Given the description of an element on the screen output the (x, y) to click on. 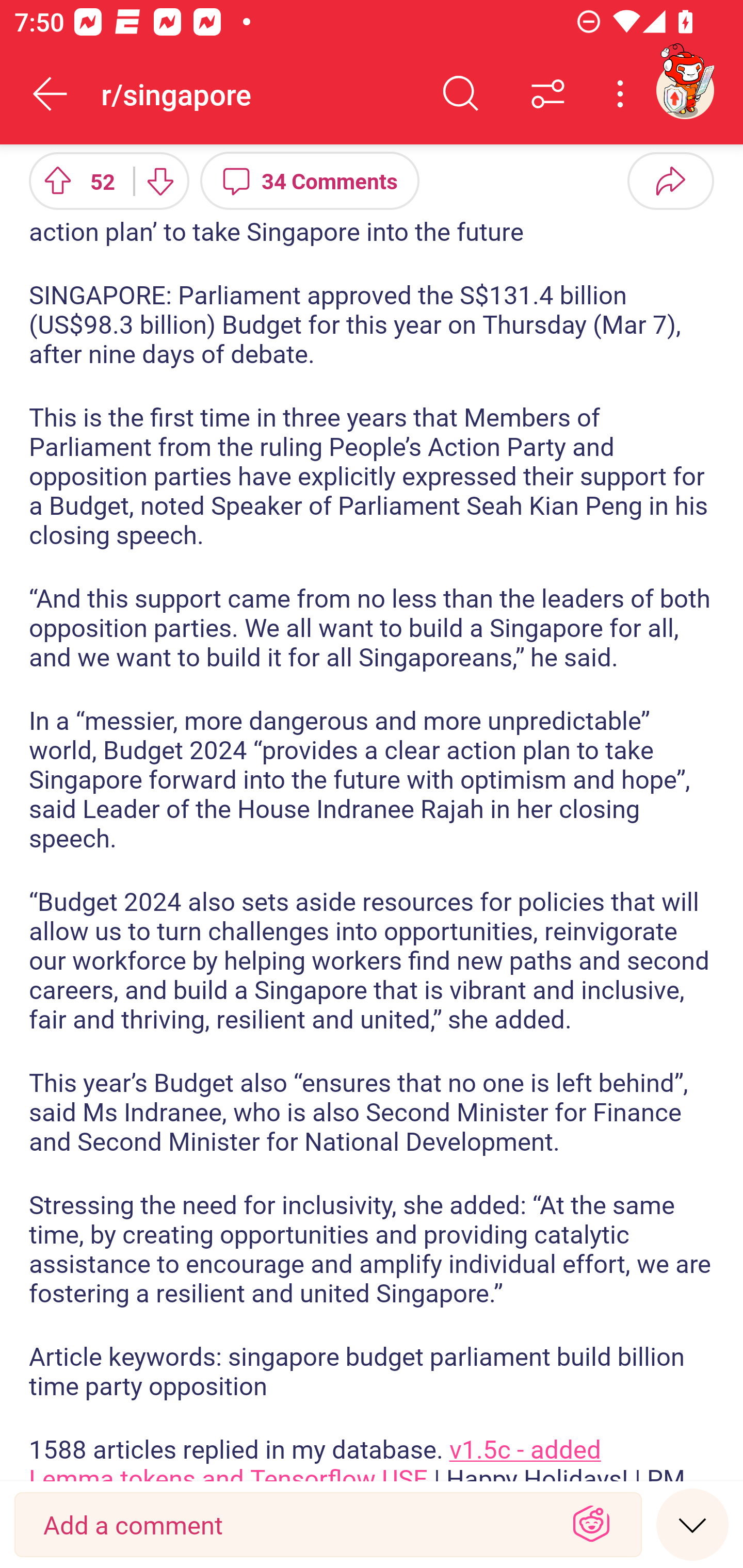
Back (50, 93)
TestAppium002 account (685, 90)
Search comments (460, 93)
Sort comments (547, 93)
More options (623, 93)
r/singapore (259, 92)
Upvote 52 (73, 180)
Downvote (158, 180)
34 Comments (309, 180)
Share (670, 180)
Speed read (692, 1524)
Add a comment (291, 1524)
Show Expressions (590, 1524)
